Given the description of an element on the screen output the (x, y) to click on. 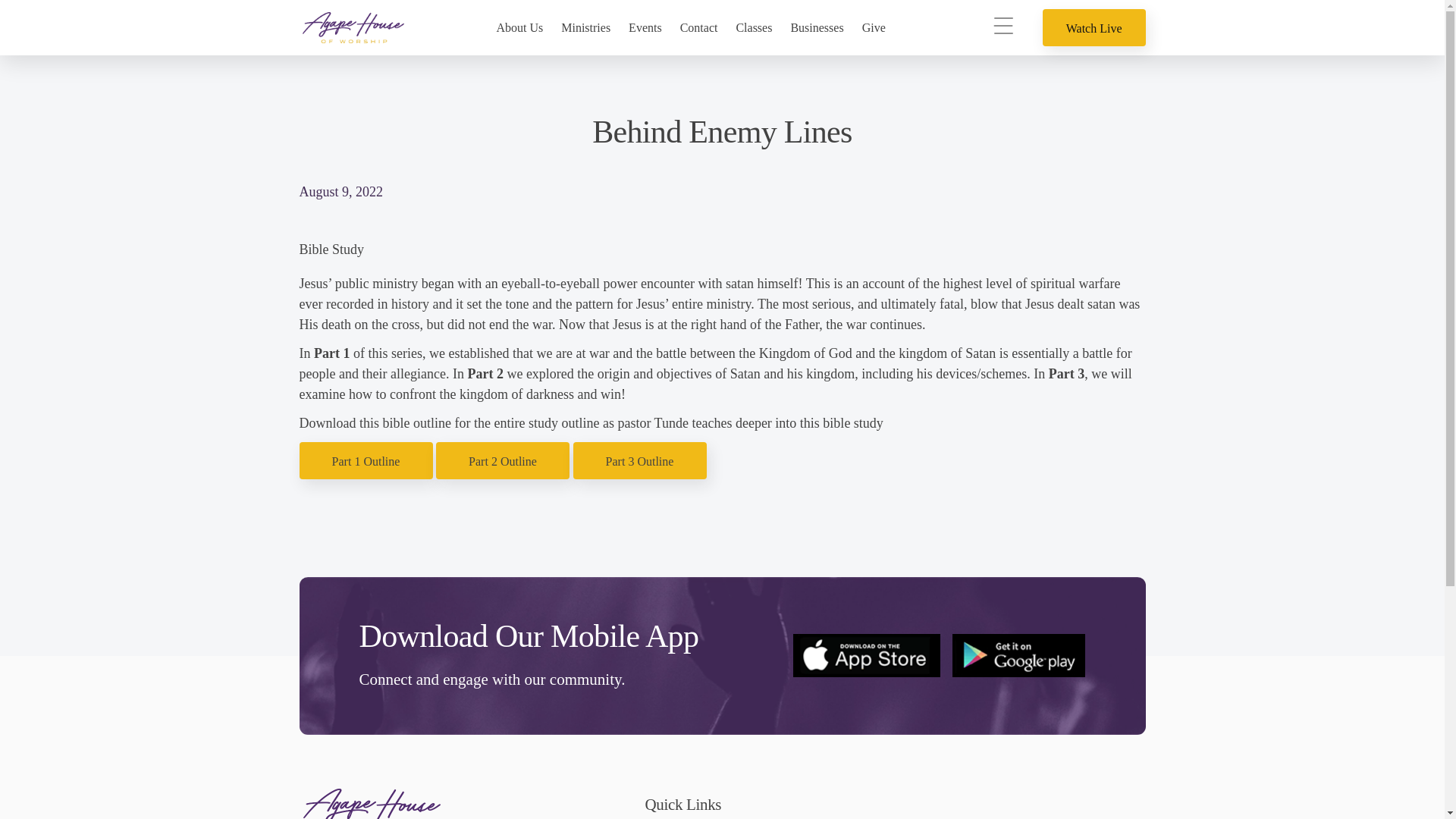
Events (645, 27)
Part 3 Outline (639, 461)
Ministries (584, 27)
Part 2 Outline (502, 461)
About Us (519, 27)
Give (878, 27)
Part 1 Outline (365, 461)
Contact (698, 27)
Watch Live (1093, 27)
Classes (753, 27)
